Given the description of an element on the screen output the (x, y) to click on. 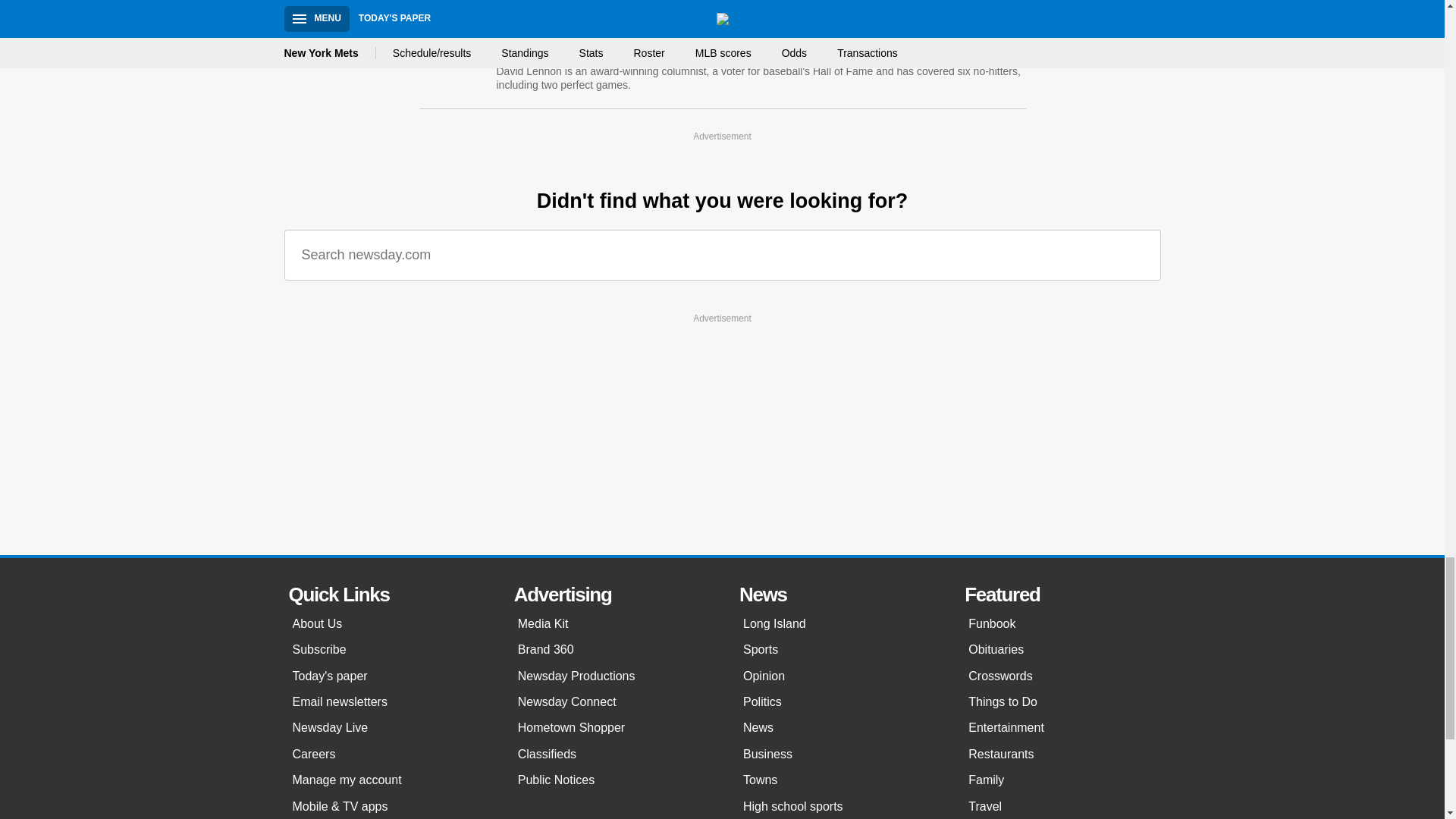
Search (1137, 255)
David Lennon (547, 30)
DPLennon (664, 50)
